Given the description of an element on the screen output the (x, y) to click on. 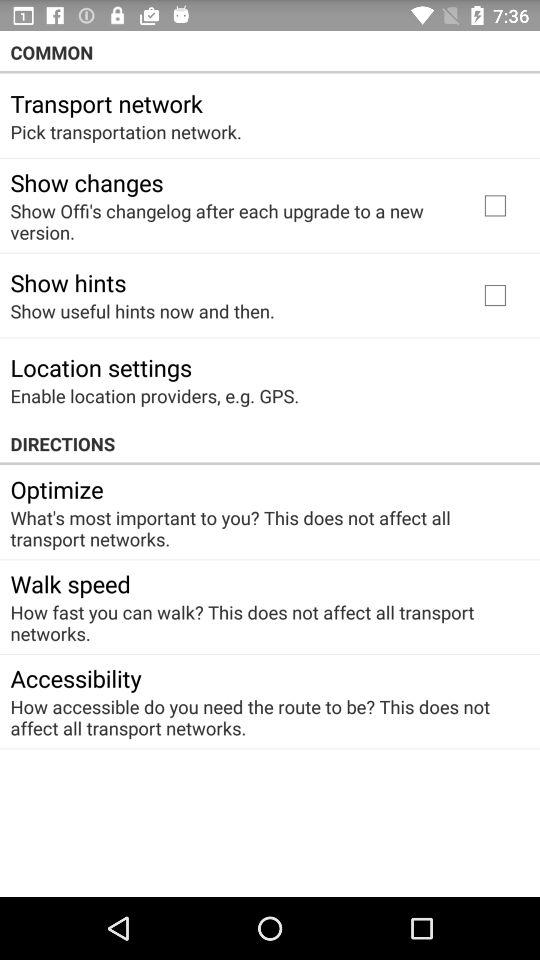
choose the item above the optimize icon (270, 444)
